Given the description of an element on the screen output the (x, y) to click on. 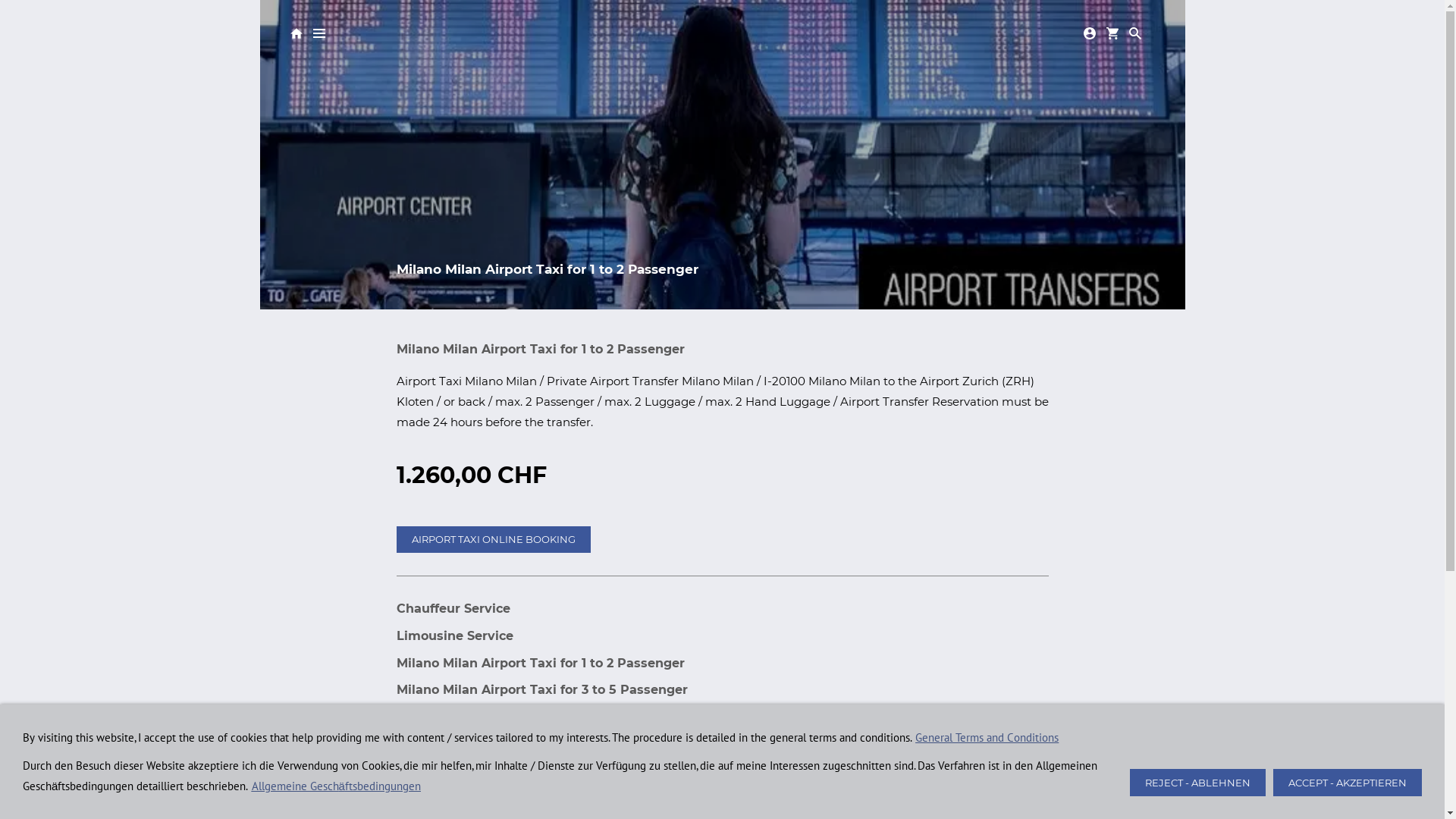
REJECT - ABLEHNEN Element type: text (1197, 782)
Milano Milan Airport Taxi for 1 to 2 Passenger Element type: text (539, 662)
Milano Milan Airport Taxi for 3 to 5 Passenger Element type: text (541, 689)
Limousine Service Element type: text (453, 635)
General Terms and Conditions Element type: text (986, 737)
Chauffeur Service Element type: text (452, 608)
AIRPORT TAXI ONLINE BOOKING Element type: text (492, 539)
ACCEPT - AKZEPTIEREN Element type: text (1347, 782)
